Given the description of an element on the screen output the (x, y) to click on. 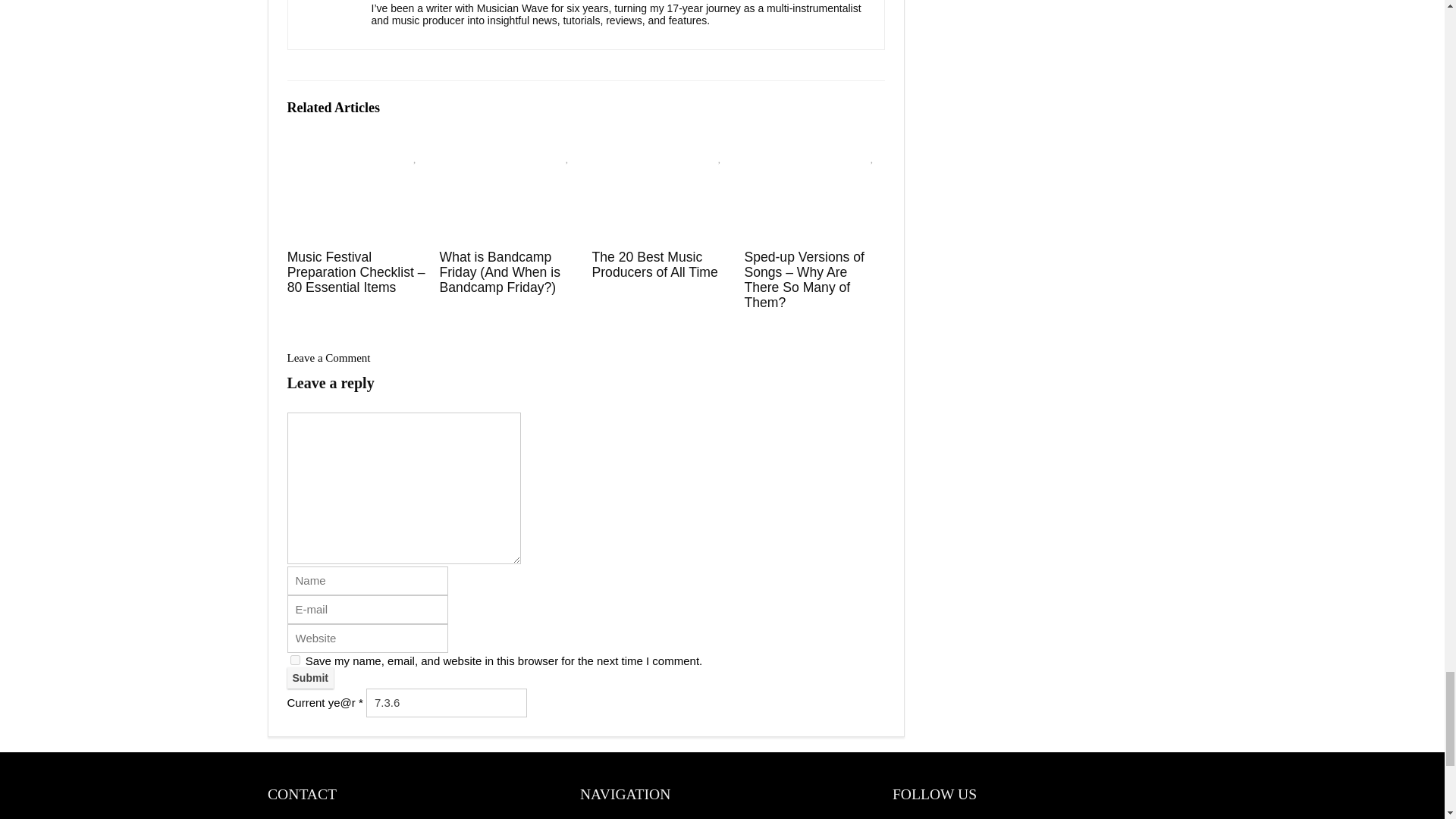
Submit (309, 677)
7.3.6 (446, 702)
yes (294, 660)
The 20 Best Music Producers of All Time (654, 264)
Submit (309, 677)
